Given the description of an element on the screen output the (x, y) to click on. 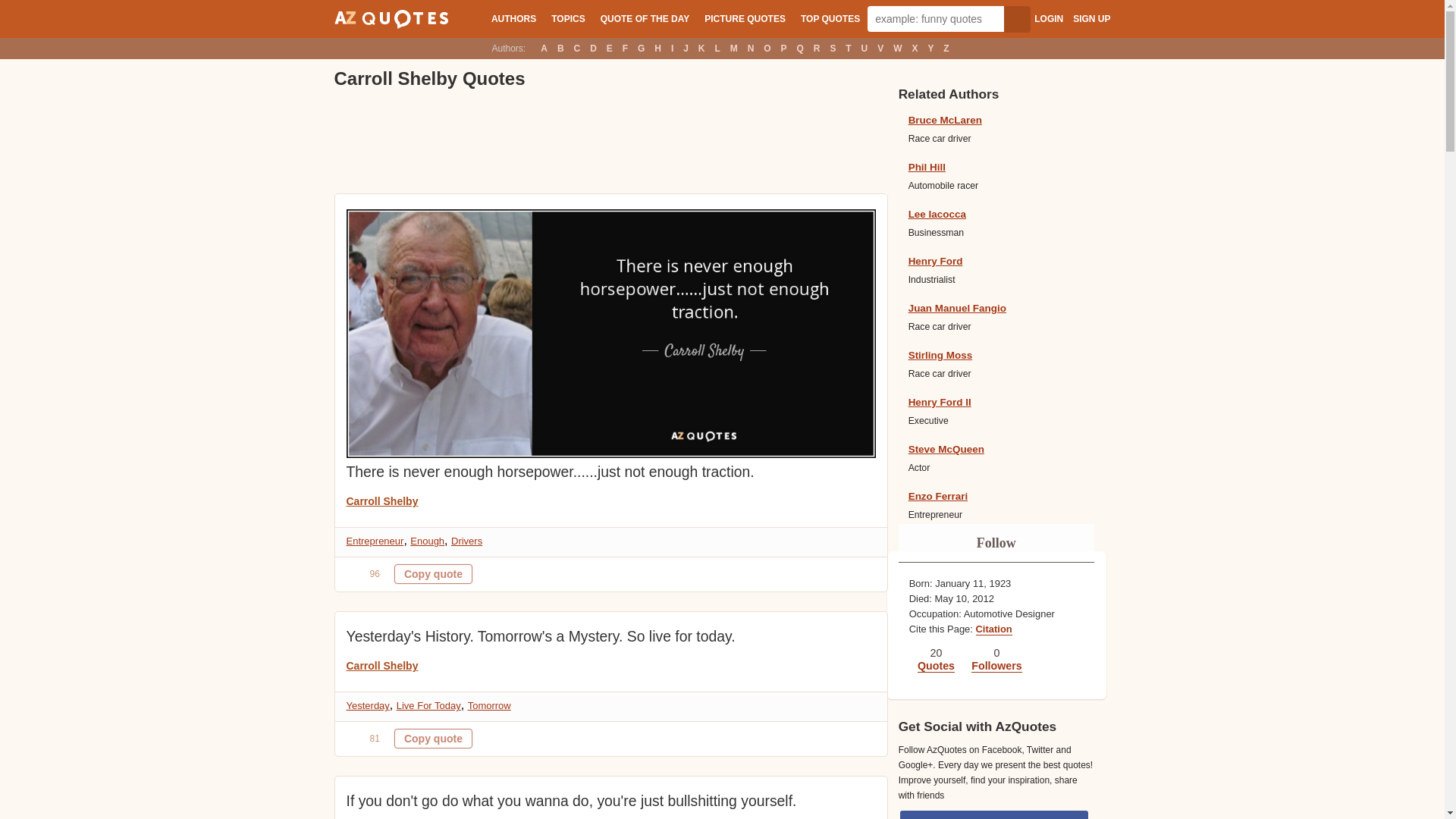
B (560, 47)
T (849, 47)
U (863, 47)
L (717, 47)
J (685, 47)
M (733, 47)
W (897, 47)
Quote is copied (432, 738)
A (544, 47)
K (700, 47)
D (592, 47)
H (656, 47)
C (576, 47)
AUTHORS (513, 18)
Z (946, 47)
